Given the description of an element on the screen output the (x, y) to click on. 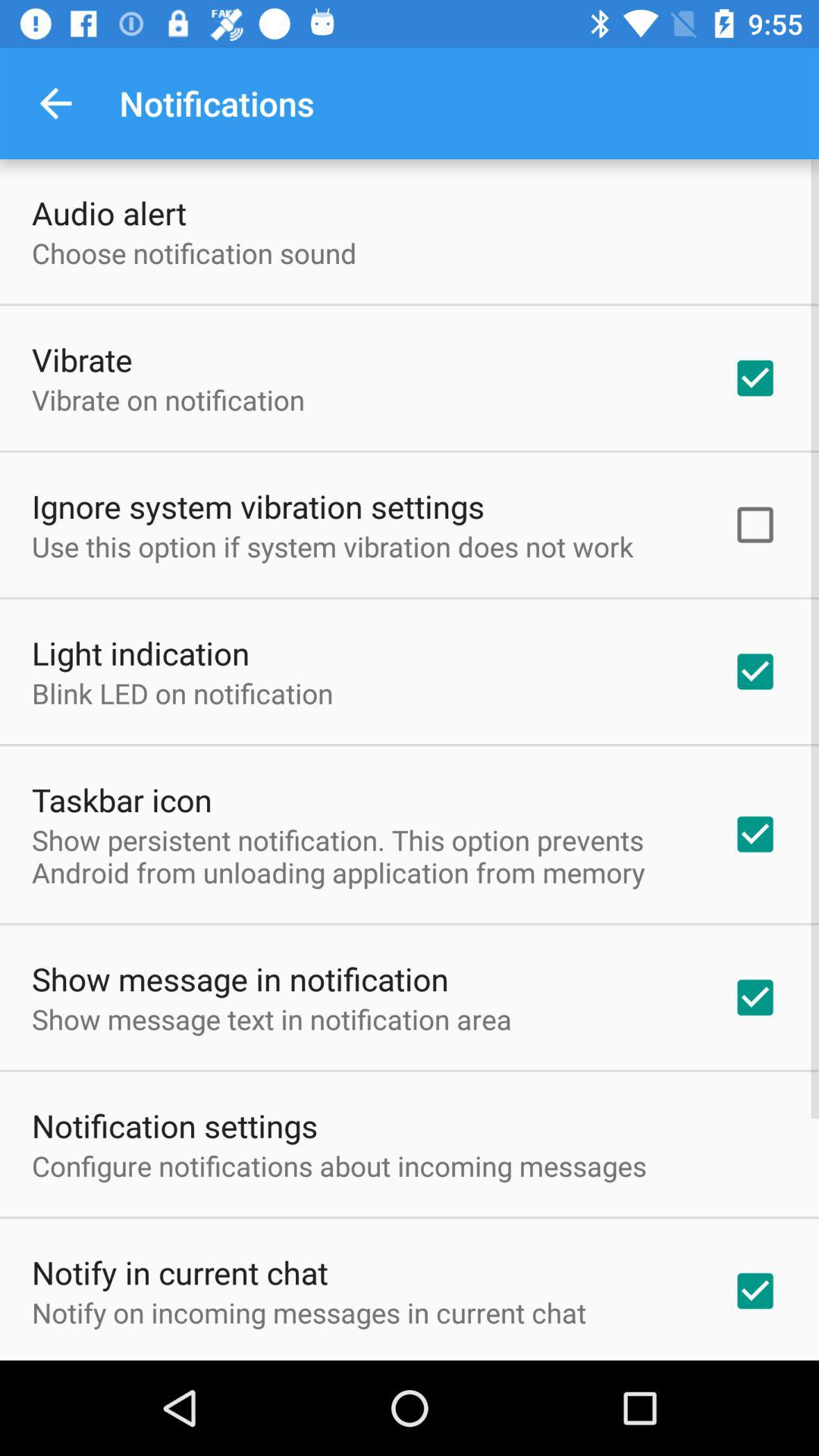
press item below show message text item (174, 1125)
